Given the description of an element on the screen output the (x, y) to click on. 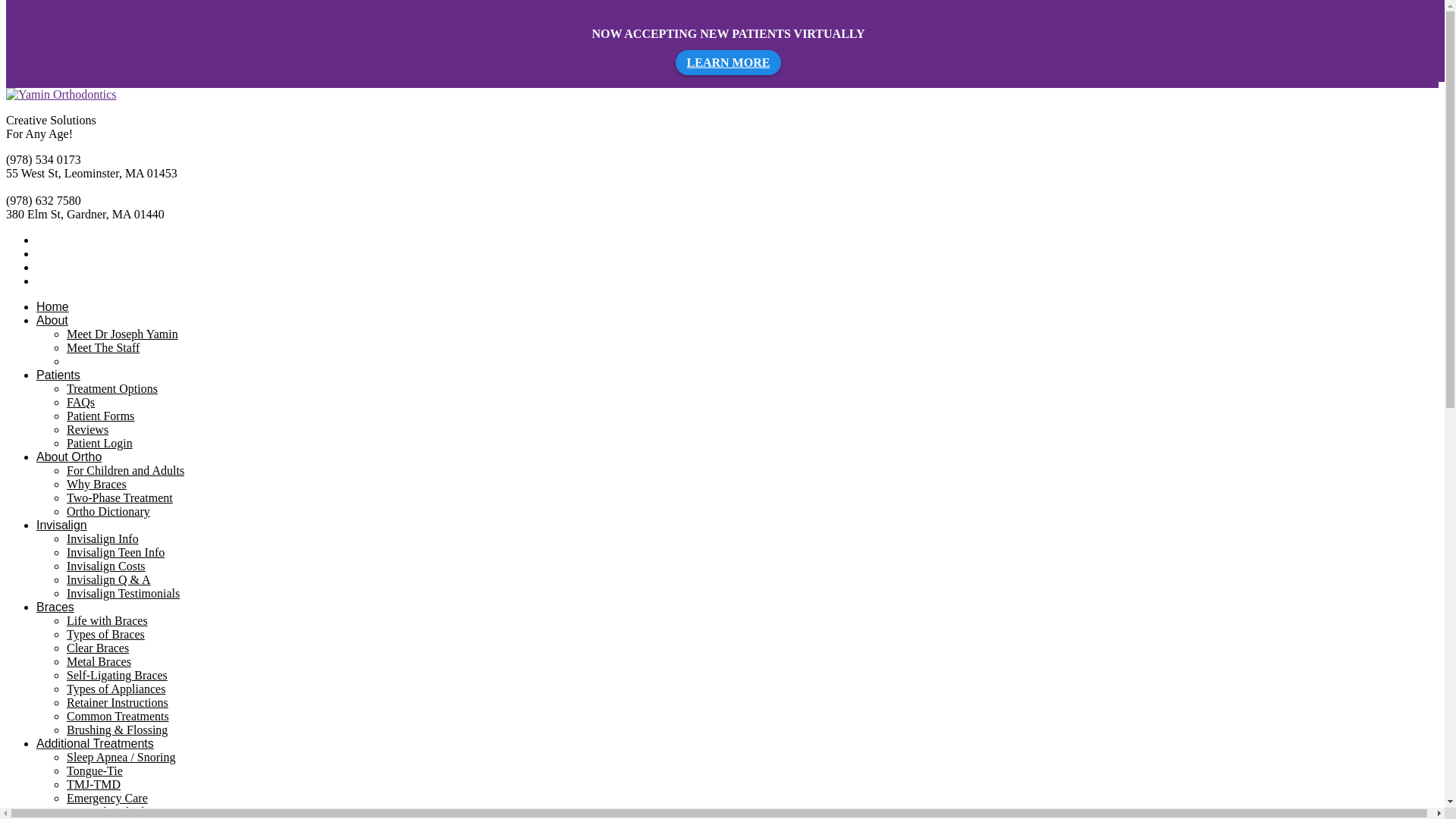
Our Blog (89, 360)
Two-Phase Treatment (119, 497)
Metal Braces (98, 661)
Meet The Staff (102, 347)
About (52, 319)
Invisalign Teen Info (115, 552)
Home (52, 306)
LEARN MORE (728, 62)
Invisalign (61, 524)
Clear Braces (97, 647)
